Given the description of an element on the screen output the (x, y) to click on. 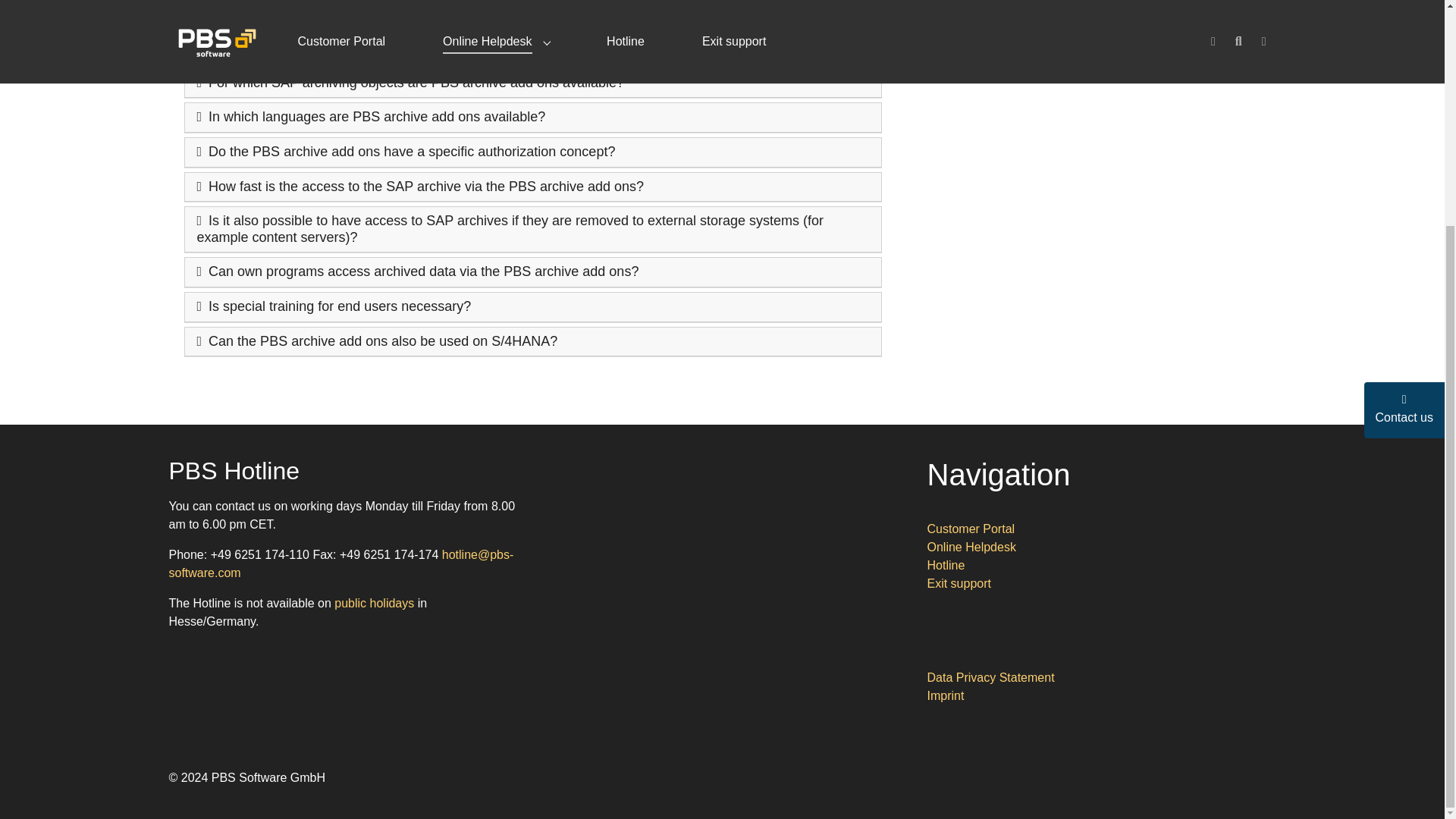
Imprint (944, 695)
Online Helpdesk (970, 546)
Data Privacy Statement (990, 676)
Exit support (958, 583)
PBS archive add ons (998, 13)
public holidays (373, 603)
Online Helpdesk (970, 546)
hotlinepbs-softwarecom (340, 563)
PBS archive add ons (998, 13)
Hotline (944, 564)
Installation and Upgrade in the SAP System (1059, 62)
Customer Portal (970, 528)
Installation and Upgrade in the SAP System (1059, 62)
Exit support (958, 583)
Hotline (944, 564)
